Given the description of an element on the screen output the (x, y) to click on. 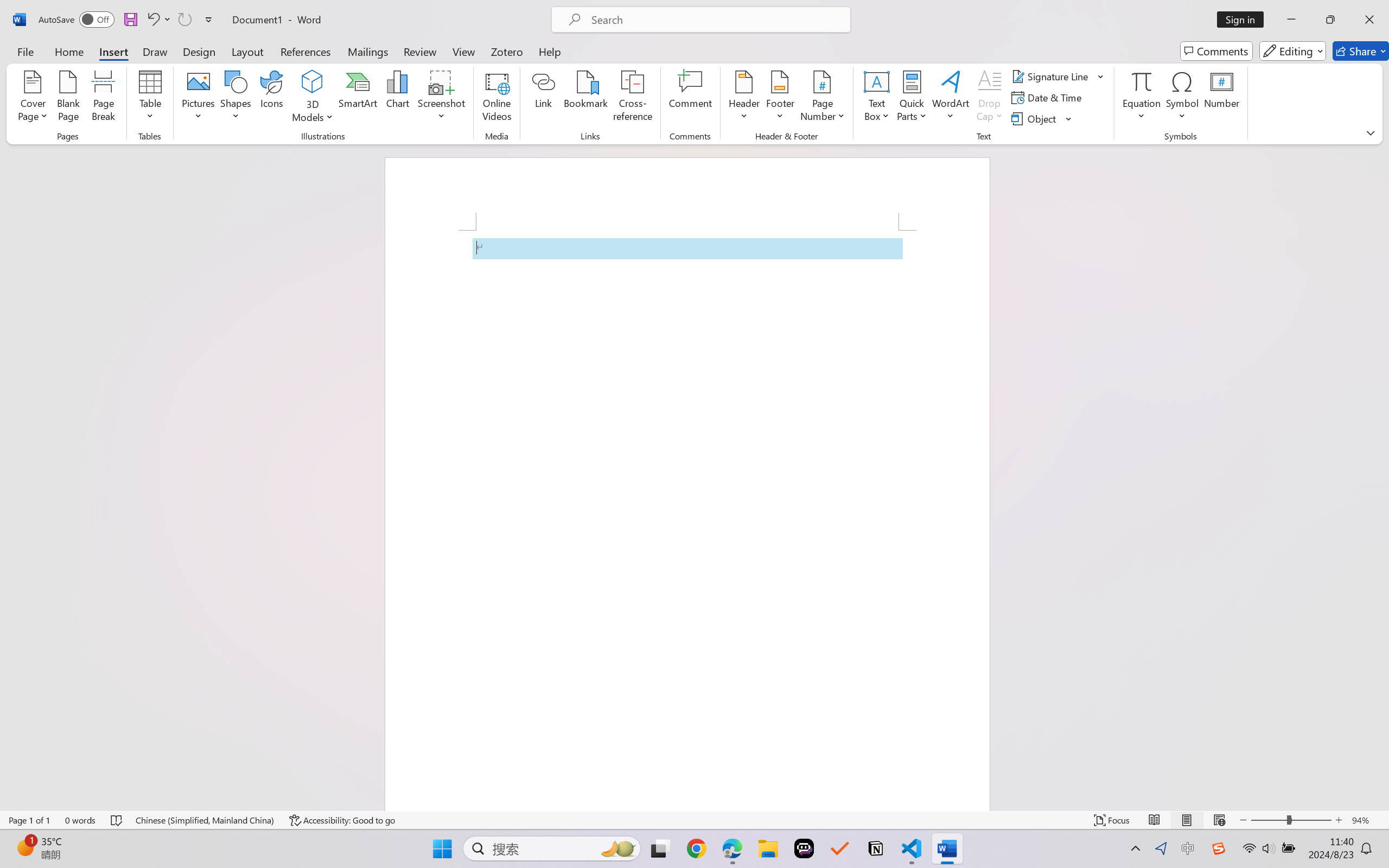
Can't Repeat (184, 19)
Drop Cap (989, 97)
Page Number (822, 97)
Number... (1221, 97)
Editing (1292, 50)
SmartArt... (358, 97)
Comment (689, 97)
